Given the description of an element on the screen output the (x, y) to click on. 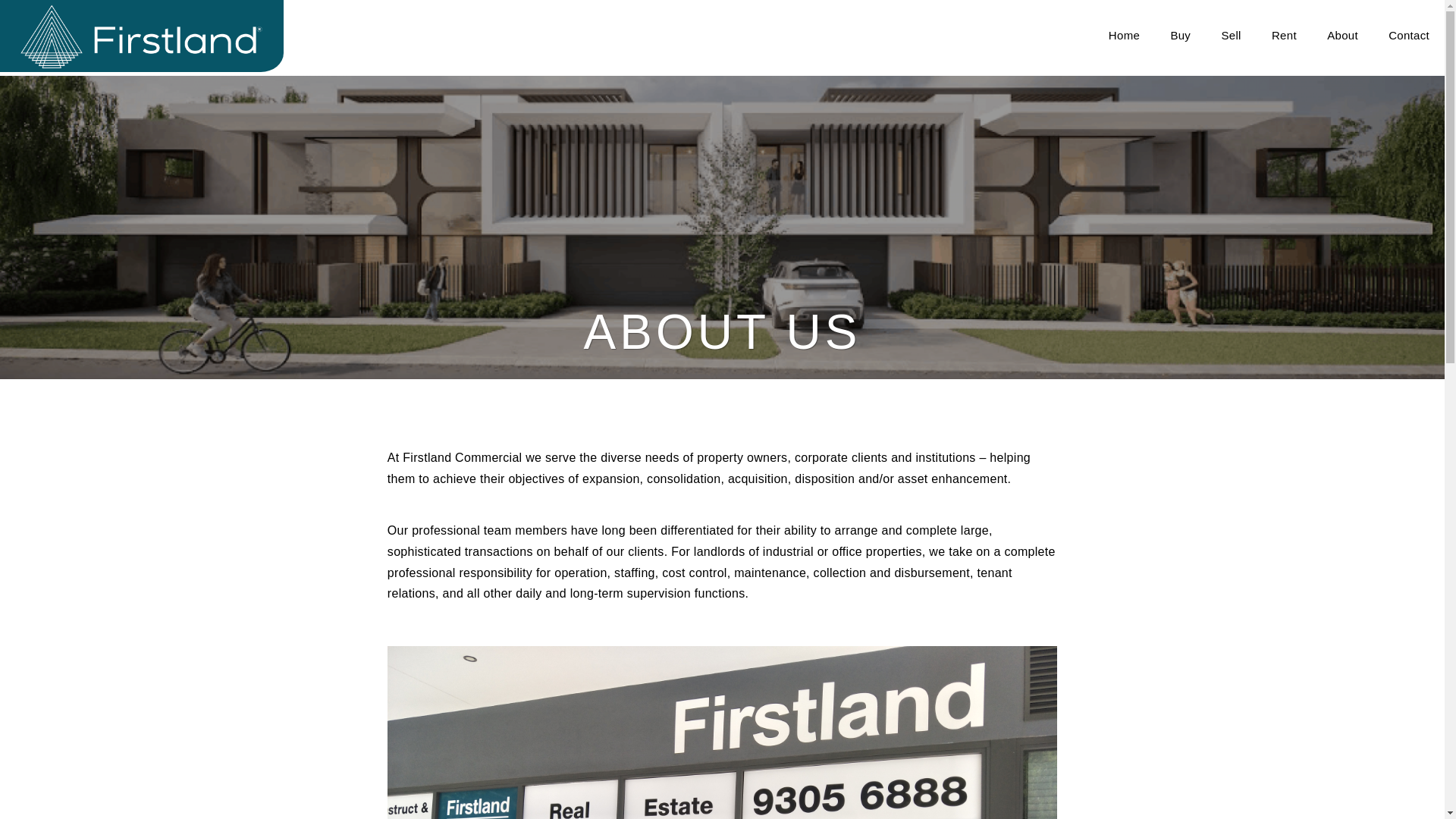
Firstland Real Estate Element type: hover (141, 36)
Sell Element type: text (1230, 35)
Home Element type: text (1123, 35)
Buy Element type: text (1179, 35)
Contact Element type: text (1408, 35)
Rent Element type: text (1283, 35)
About Element type: text (1342, 35)
